Given the description of an element on the screen output the (x, y) to click on. 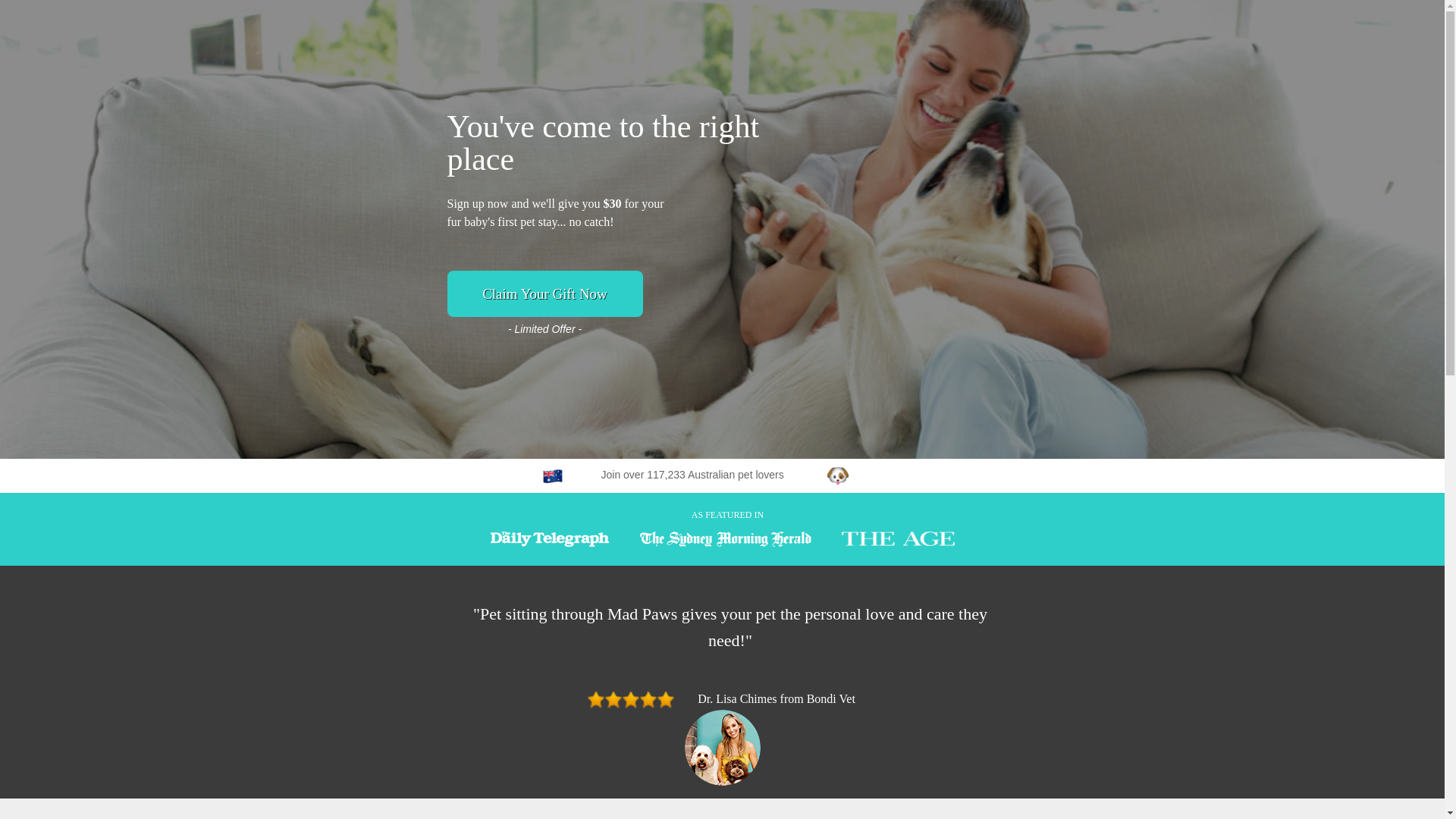
Claim Your Gift Now Element type: text (545, 293)
